Given the description of an element on the screen output the (x, y) to click on. 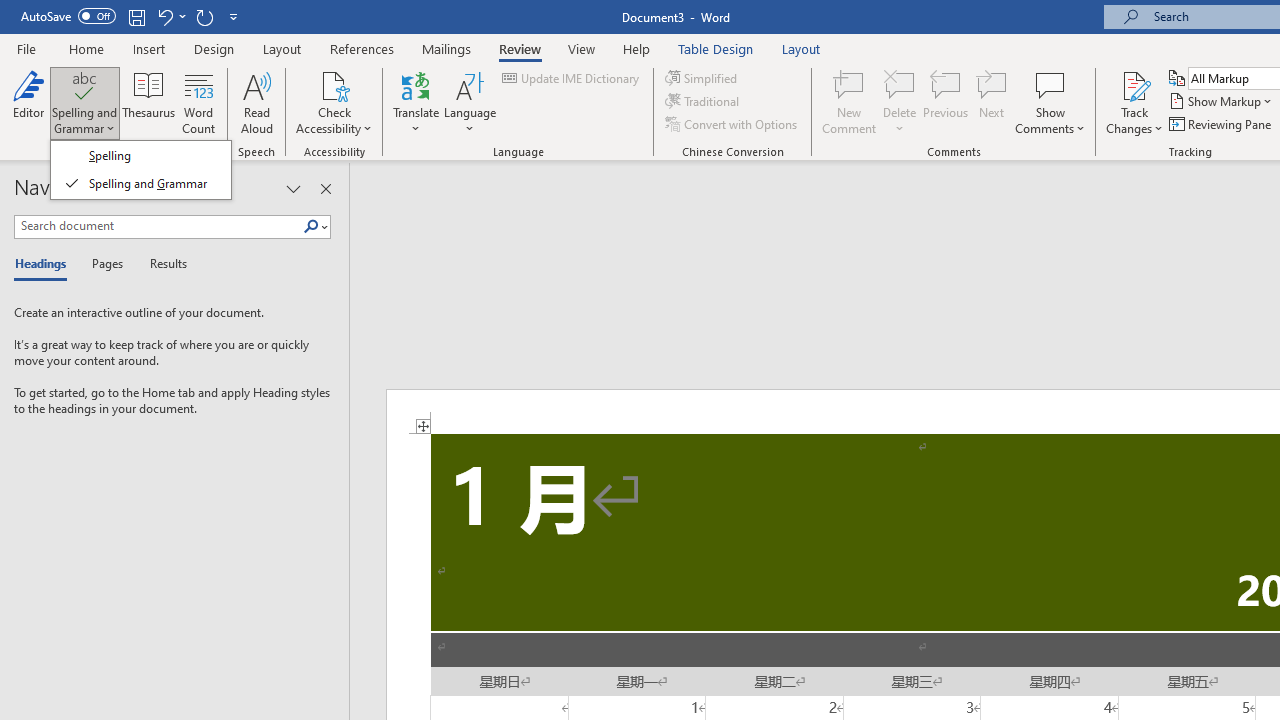
New Comment (849, 102)
Update IME Dictionary... (572, 78)
Next (991, 102)
Traditional (703, 101)
Spelling and Grammar (84, 102)
Convert with Options... (732, 124)
Delete (900, 102)
Previous (946, 102)
Language (470, 102)
